Given the description of an element on the screen output the (x, y) to click on. 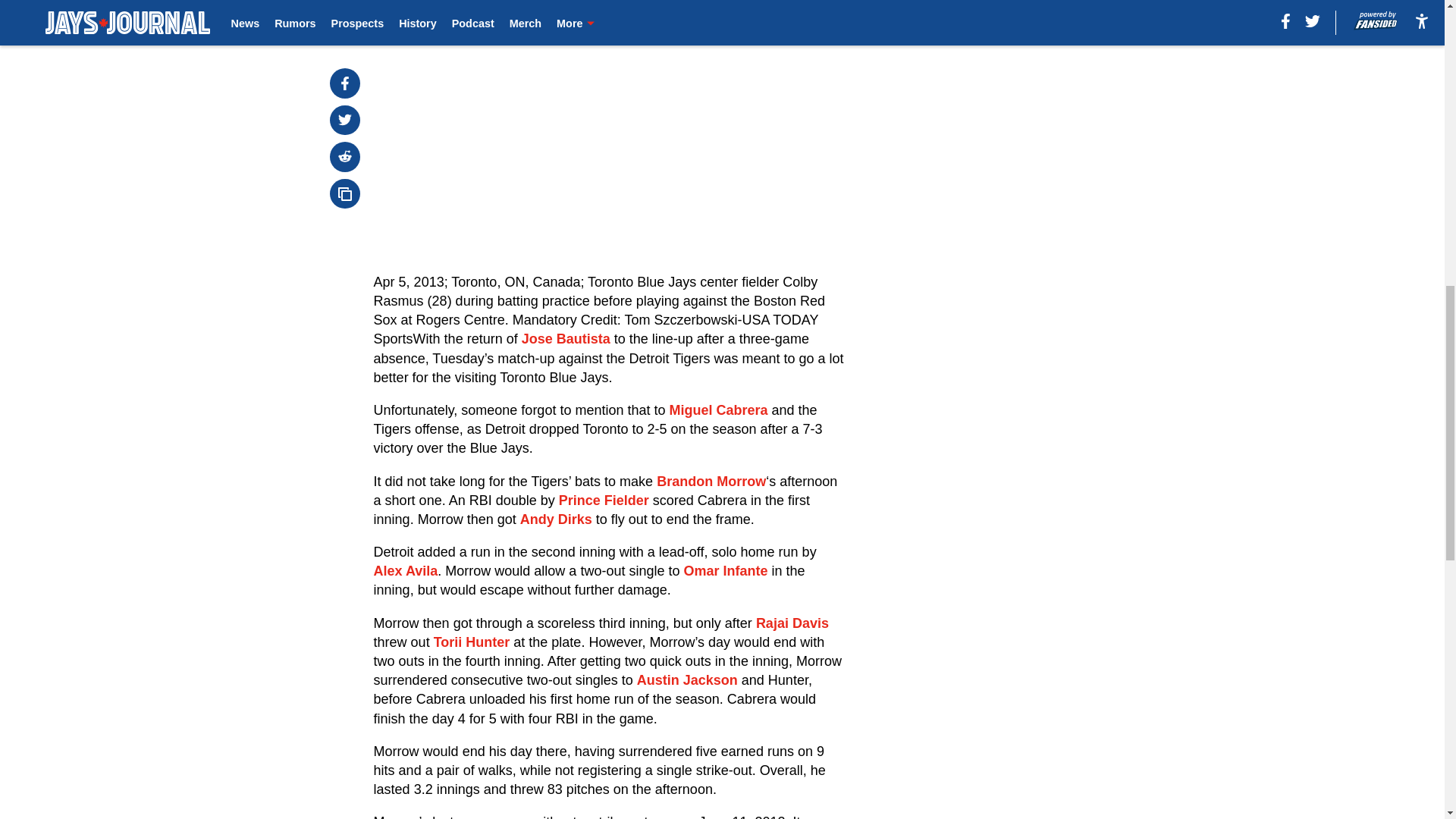
Jose Bautista (565, 338)
Alex Avila (406, 570)
Miguel Cabrera (717, 409)
Andy Dirks (555, 519)
Omar Infante (724, 570)
Brandon Morrow (710, 481)
Rajai Davis (791, 622)
Prince Fielder (604, 500)
